Given the description of an element on the screen output the (x, y) to click on. 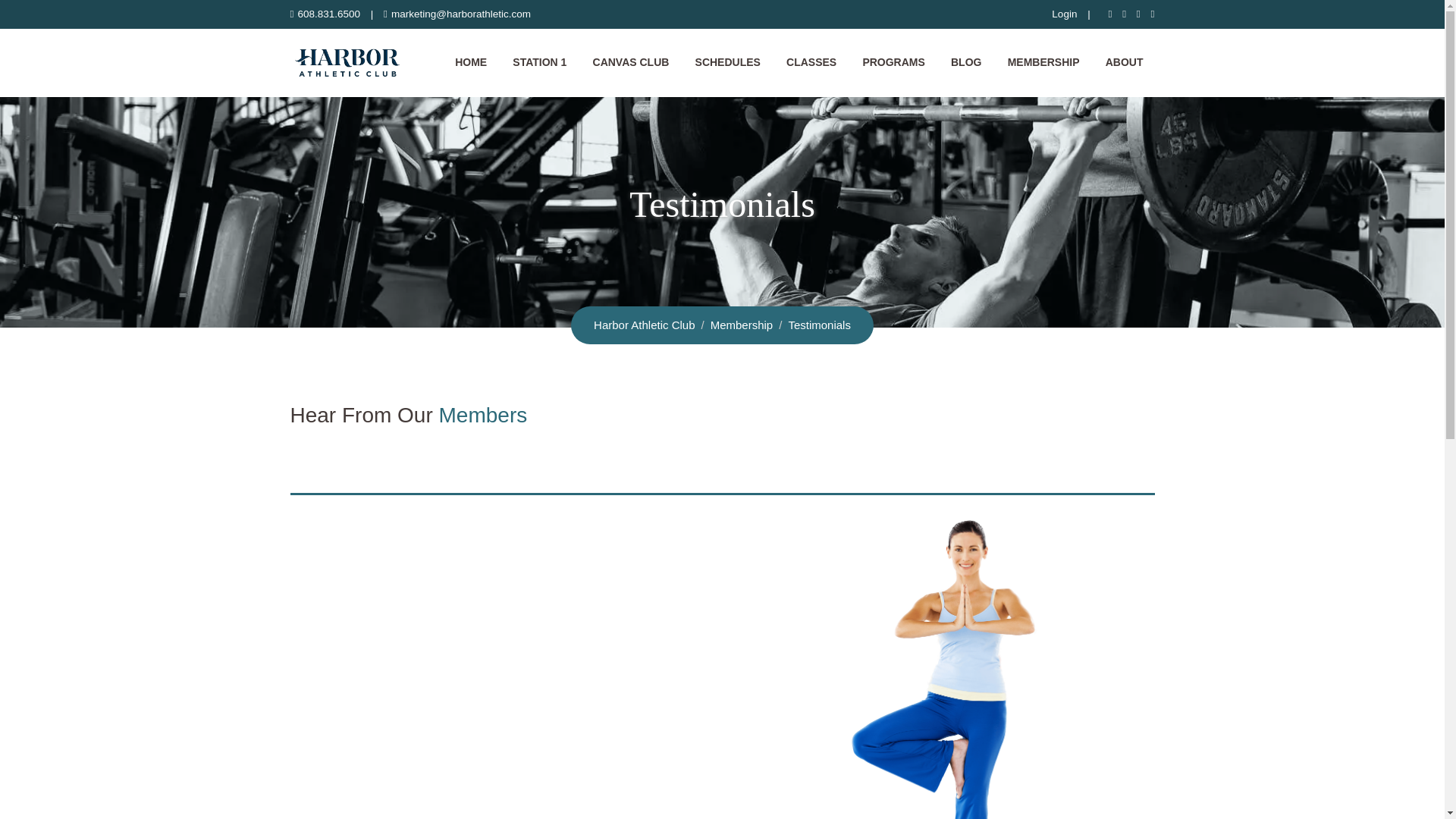
Go to Membership. (741, 324)
PROGRAMS (893, 62)
608.831.6500 (328, 13)
Login (1064, 13)
STATION 1 (539, 62)
CLASSES (810, 62)
Go to Harbor Athletic Club. (644, 324)
SCHEDULES (727, 62)
CANVAS CLUB (630, 62)
